Given the description of an element on the screen output the (x, y) to click on. 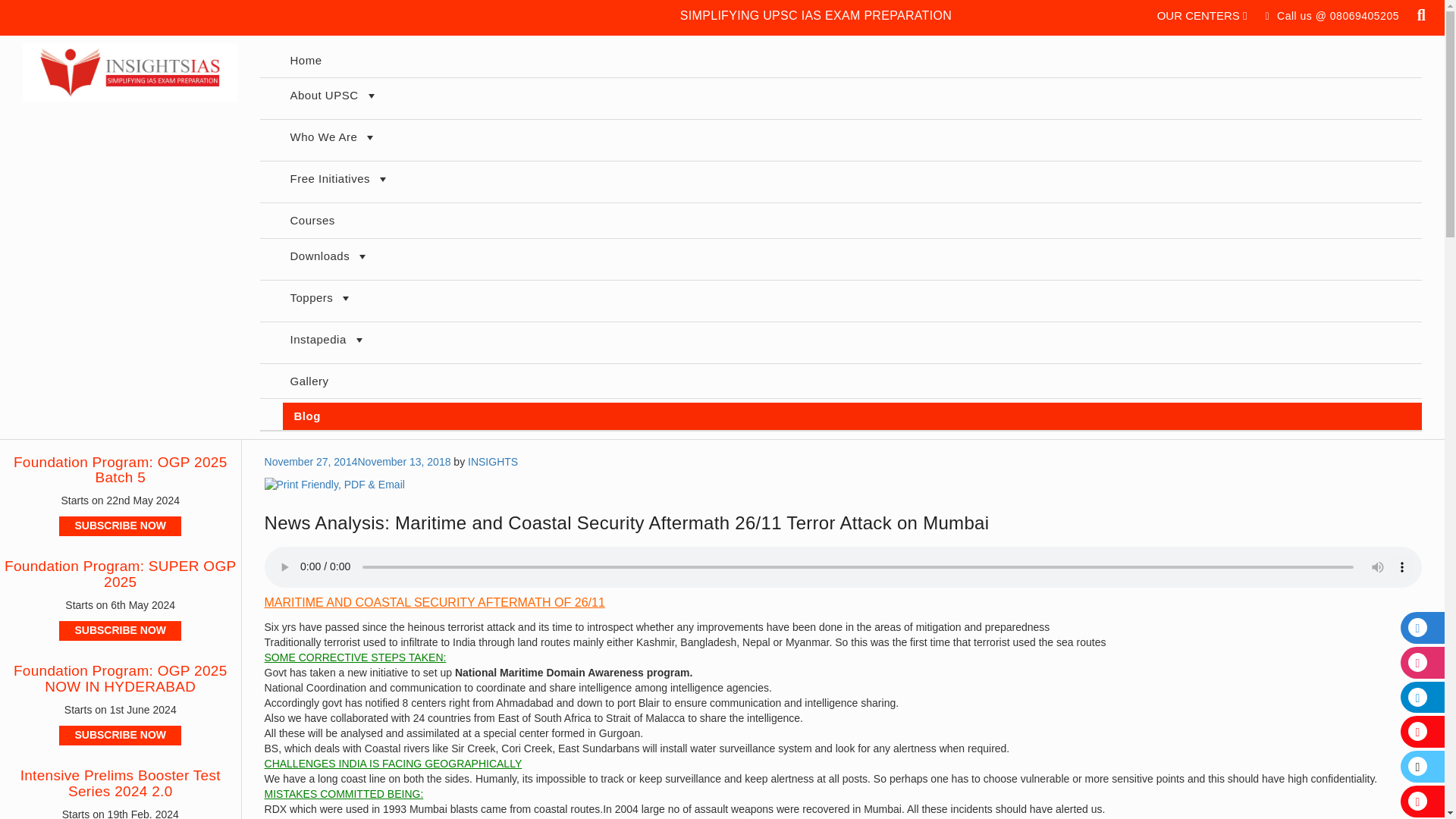
08069405205 (1364, 15)
About UPSC (851, 97)
OUR CENTERS (1202, 15)
Who We Are (851, 139)
Home (851, 60)
